Given the description of an element on the screen output the (x, y) to click on. 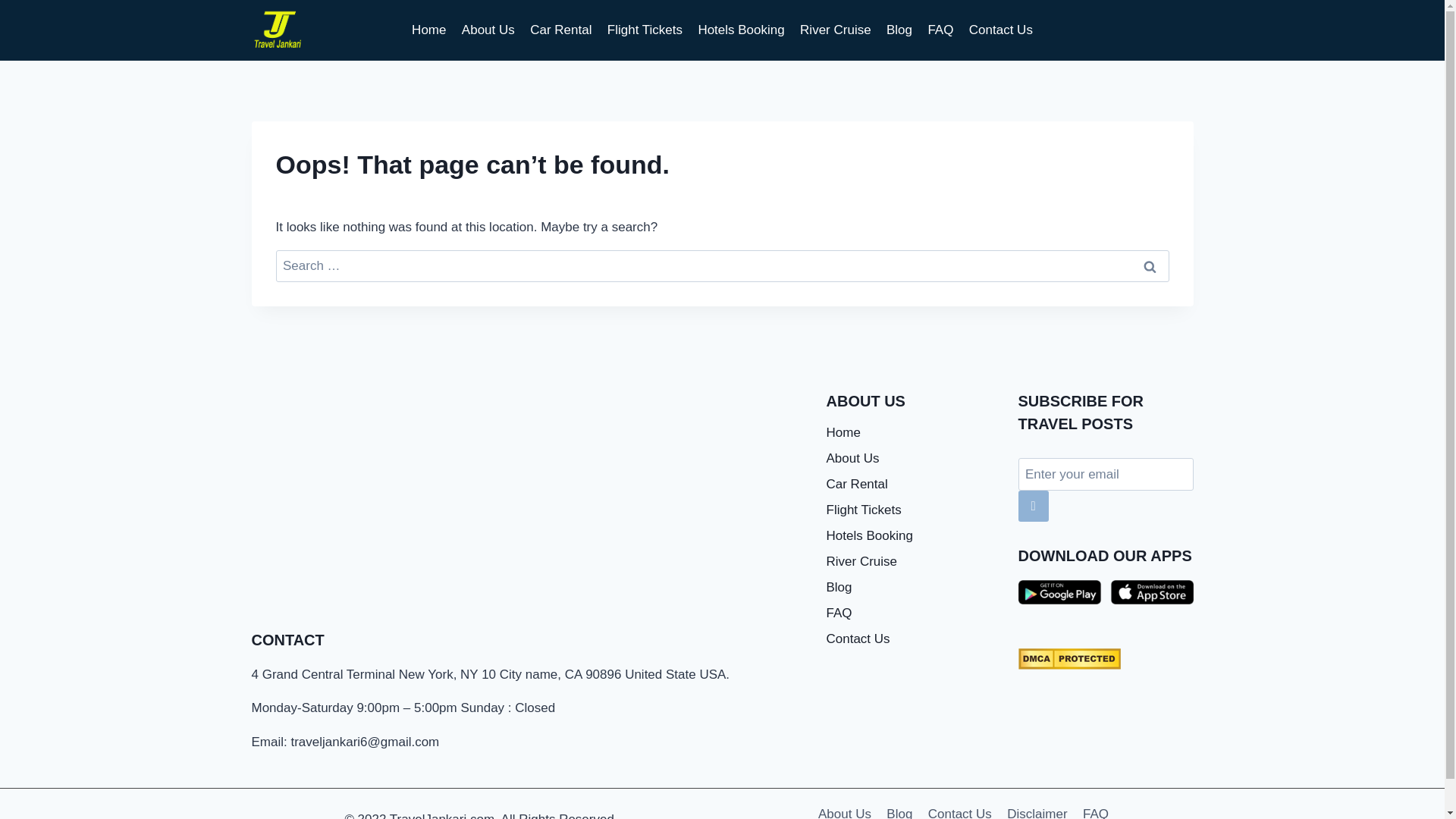
DMCA.com Protection Status (1104, 658)
Contact Us (959, 807)
Blog (911, 587)
About Us (488, 30)
River Cruise (911, 561)
Disclaimer (1036, 807)
FAQ (940, 30)
Blog (899, 30)
Flight Tickets (911, 510)
River Cruise (835, 30)
Search (1150, 266)
Advertisement (527, 565)
Contact Us (911, 638)
Home (911, 432)
Blog (899, 807)
